Given the description of an element on the screen output the (x, y) to click on. 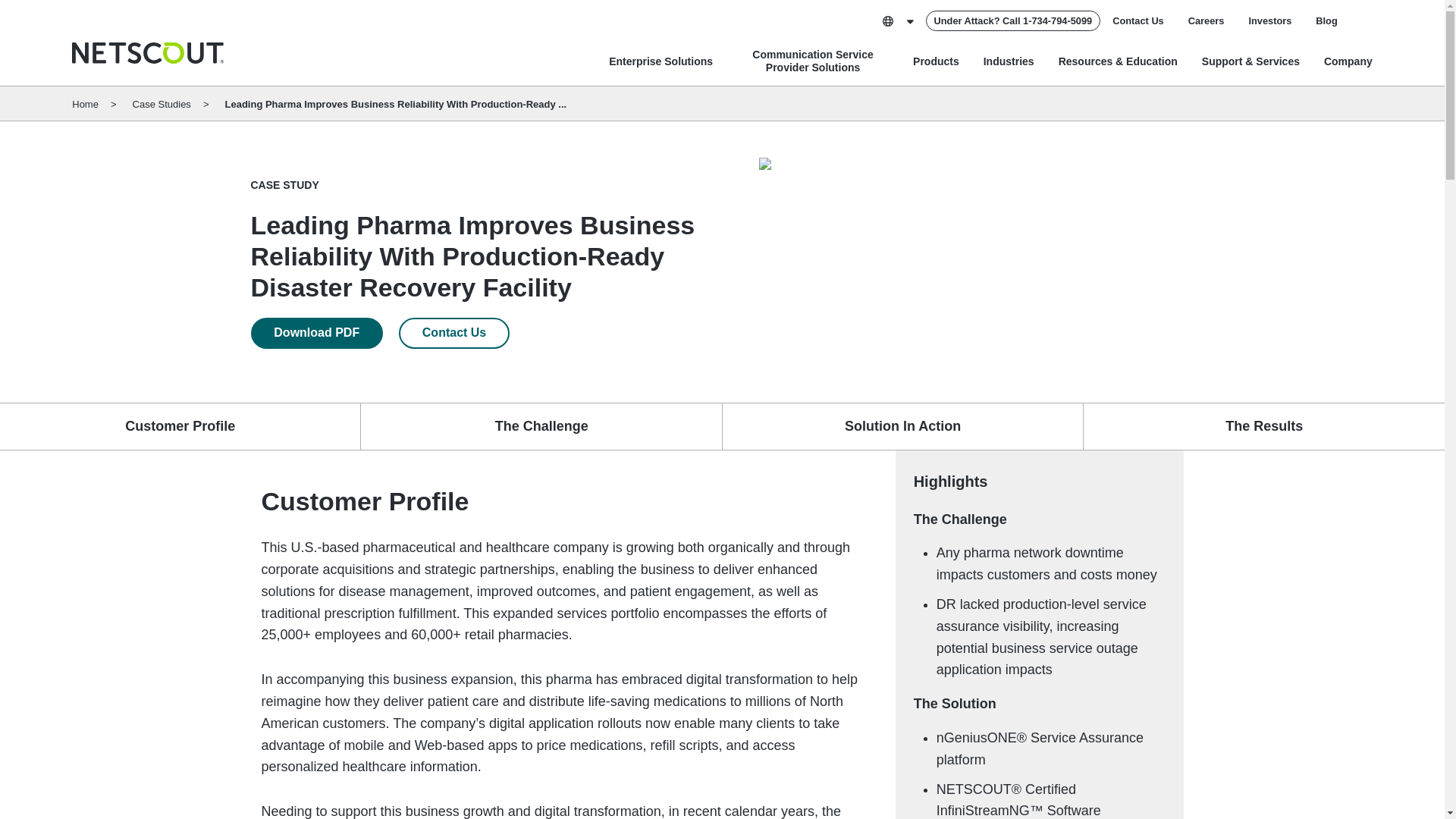
Contact Us (1138, 20)
Investors (1269, 20)
Search (1362, 20)
Search (1362, 20)
Solution In Action (902, 426)
Under Attack? Call 1-734-794-5099 (1013, 20)
Customer Profile (180, 426)
Careers (1206, 20)
The Challenge (541, 426)
Home (147, 52)
